Given the description of an element on the screen output the (x, y) to click on. 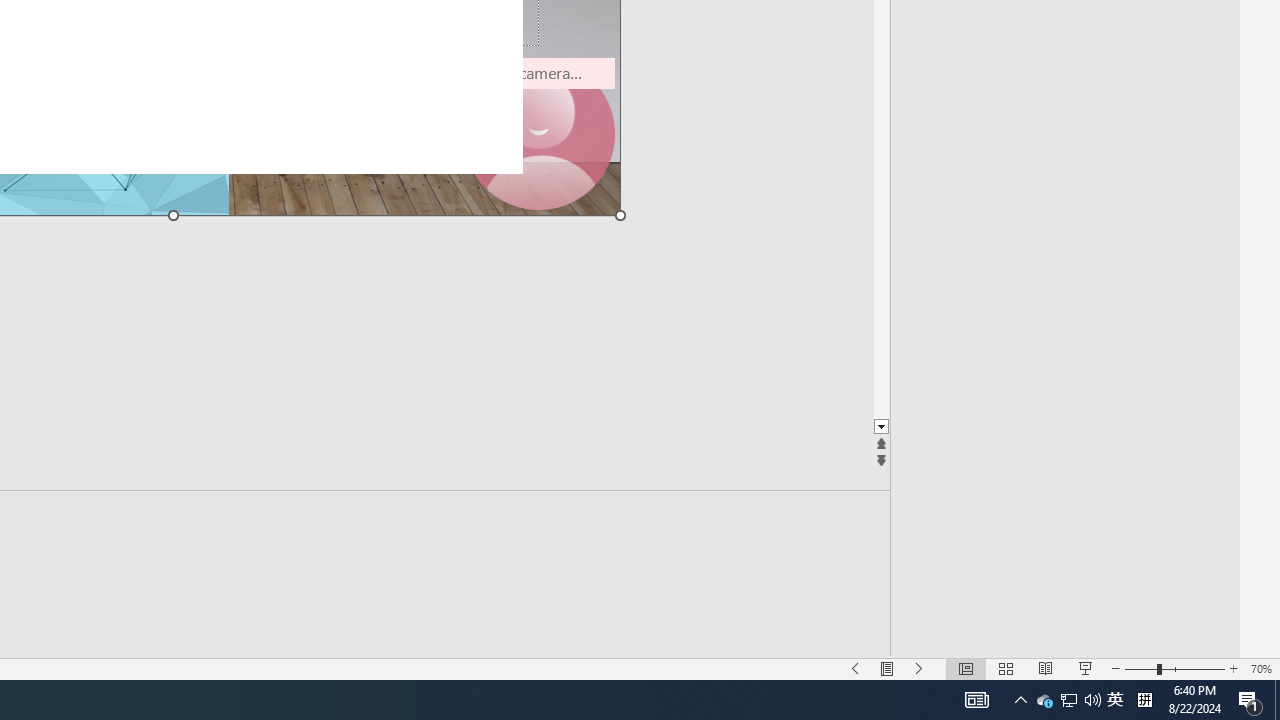
Camera 16, No camera detected. (538, 133)
Menu On (887, 668)
Zoom 70% (1261, 668)
Slide Show Next On (919, 668)
Slide Show Previous On (855, 668)
